Given the description of an element on the screen output the (x, y) to click on. 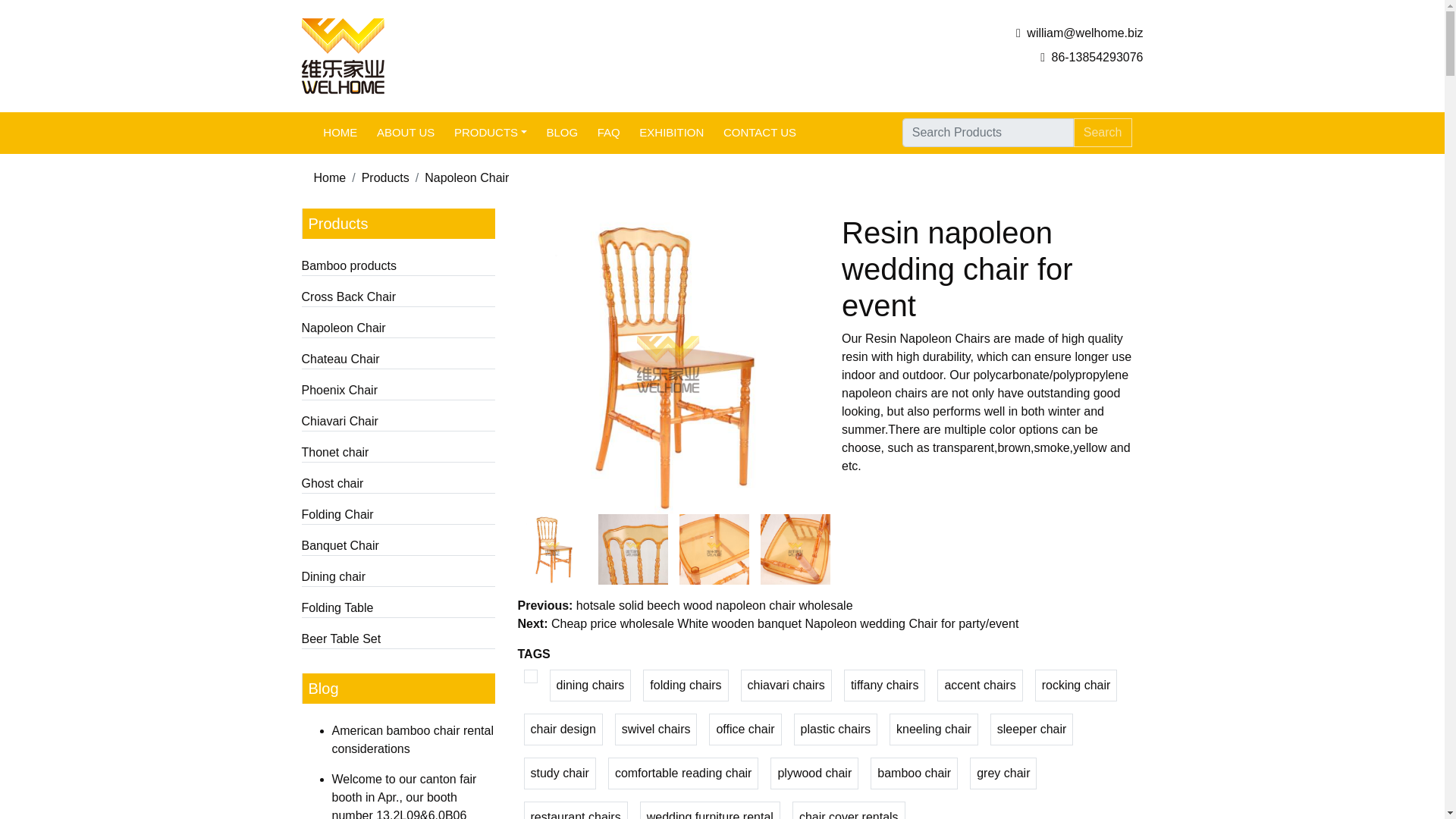
Products (385, 177)
EXHIBITION (672, 132)
ABOUT US (405, 132)
tiffany chairs (885, 685)
Home (330, 177)
HOME (341, 132)
CONTACT US (759, 132)
hotsale solid beech wood napoleon chair wholesale (714, 604)
chiavari chairs (786, 685)
FAQ (609, 132)
